Given the description of an element on the screen output the (x, y) to click on. 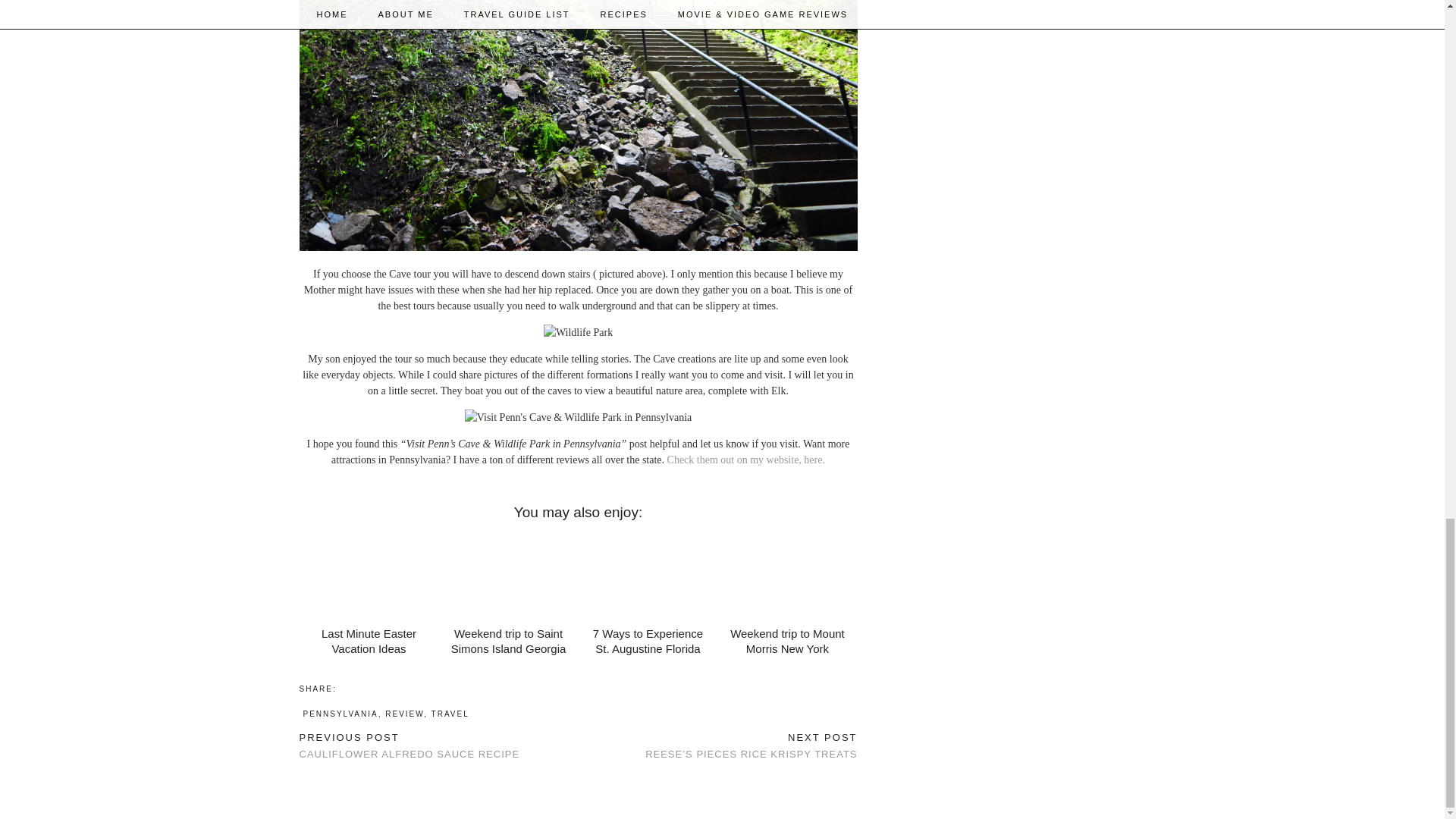
7 Ways to Experience St. Augustine Florida (647, 576)
7 Ways to Experience St. Augustine Florida (647, 641)
Last Minute Easter Vacation Ideas (368, 641)
TRAVEL (449, 714)
Last Minute Easter Vacation Ideas (368, 576)
PENNSYLVANIA (340, 714)
Check them out on my website, here. (408, 746)
Weekend trip to Saint Simons Island Georgia (745, 460)
7 Ways to Experience St. Augustine Florida (508, 641)
